Given the description of an element on the screen output the (x, y) to click on. 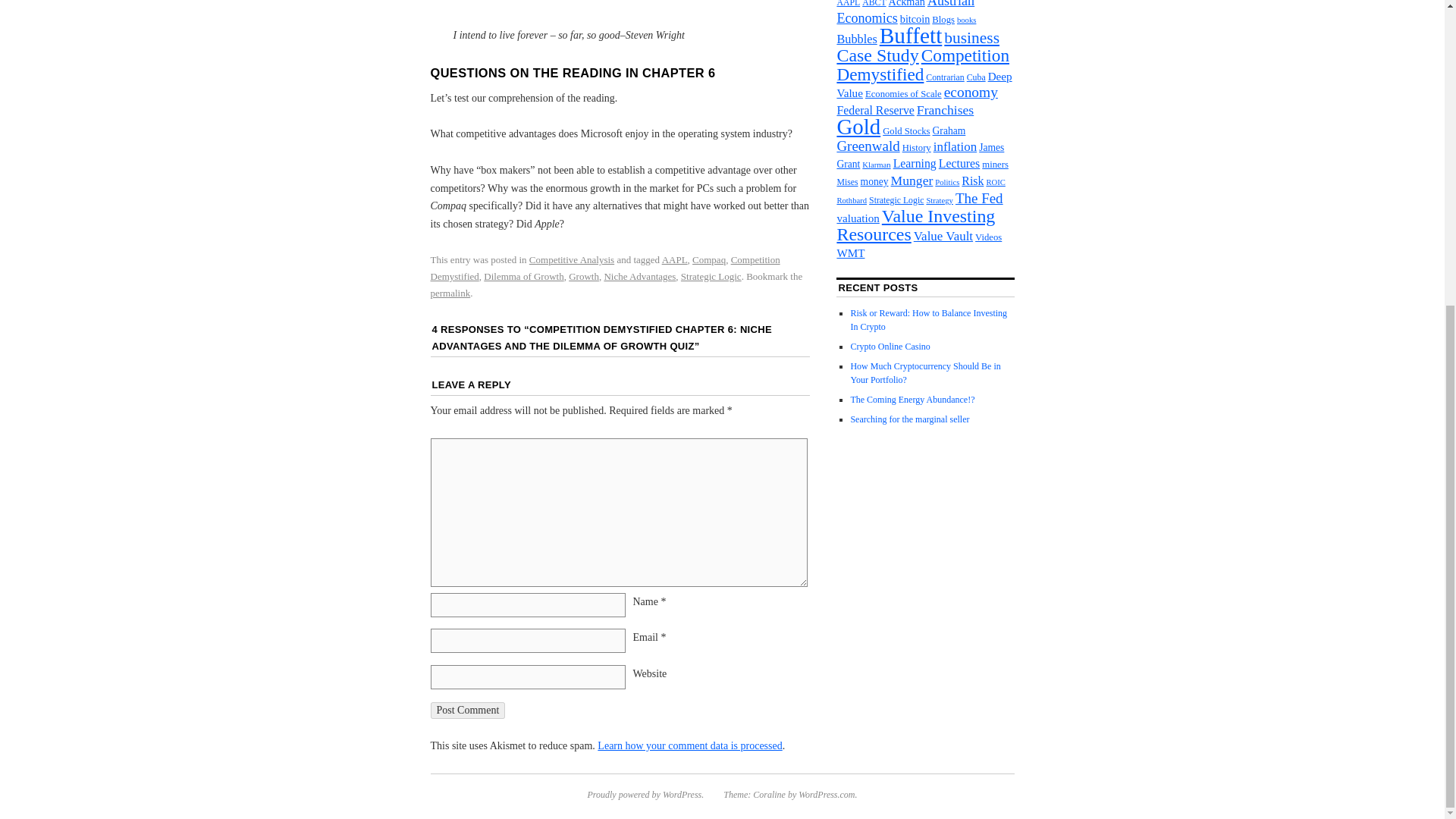
Competition Demystified (605, 267)
Case Study (876, 55)
Ackman (906, 3)
books (965, 19)
Competitive Analysis (571, 259)
Compaq (709, 259)
Dilemma of Growth (523, 276)
Austrian Economics (904, 12)
Strategic Logic (711, 276)
